Given the description of an element on the screen output the (x, y) to click on. 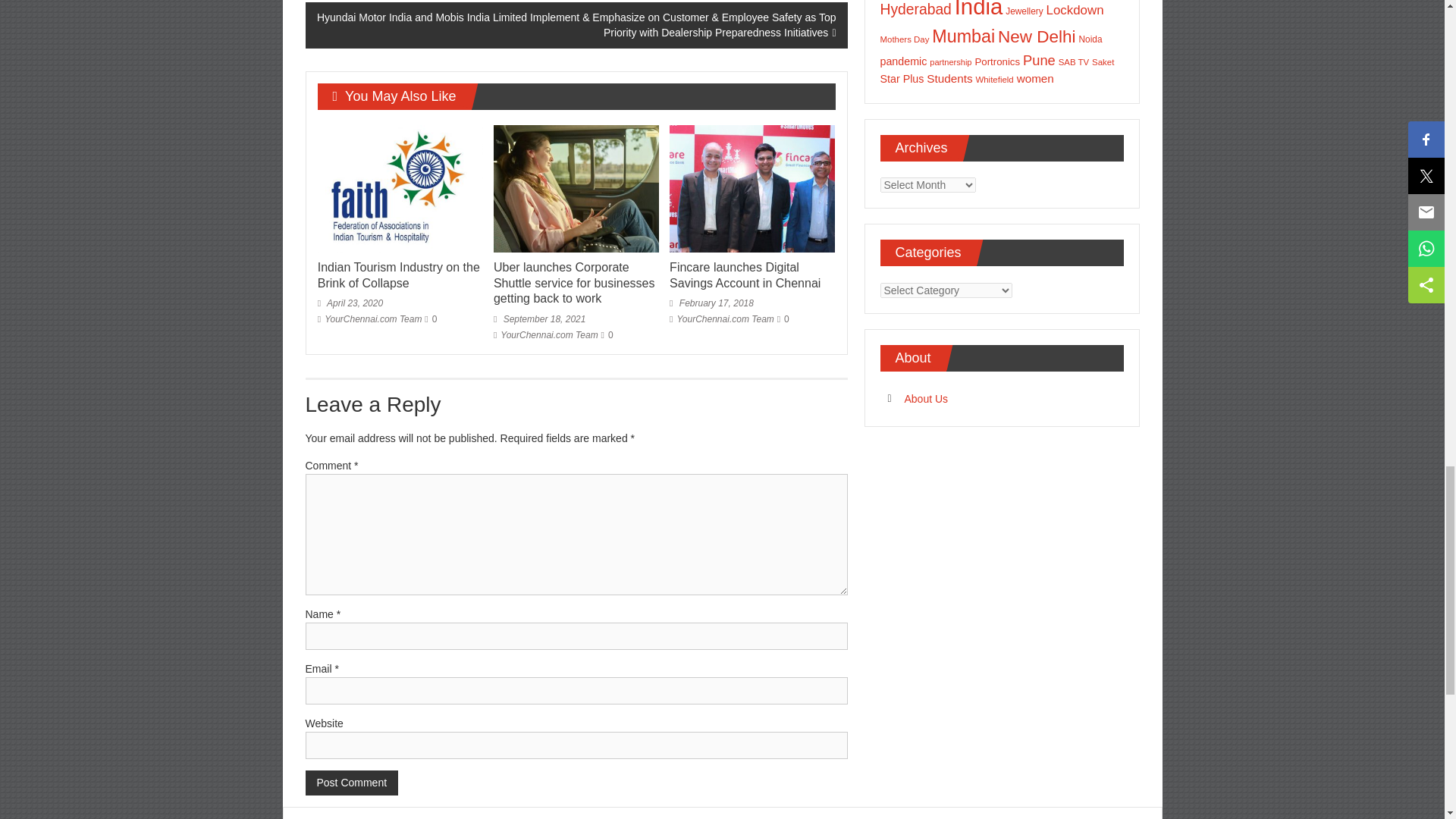
Indian Tourism Industry on the Brink of Collapse (398, 275)
7:03 am (349, 303)
Indian Tourism Industry on the Brink of Collapse (400, 187)
Post Comment (350, 782)
